Given the description of an element on the screen output the (x, y) to click on. 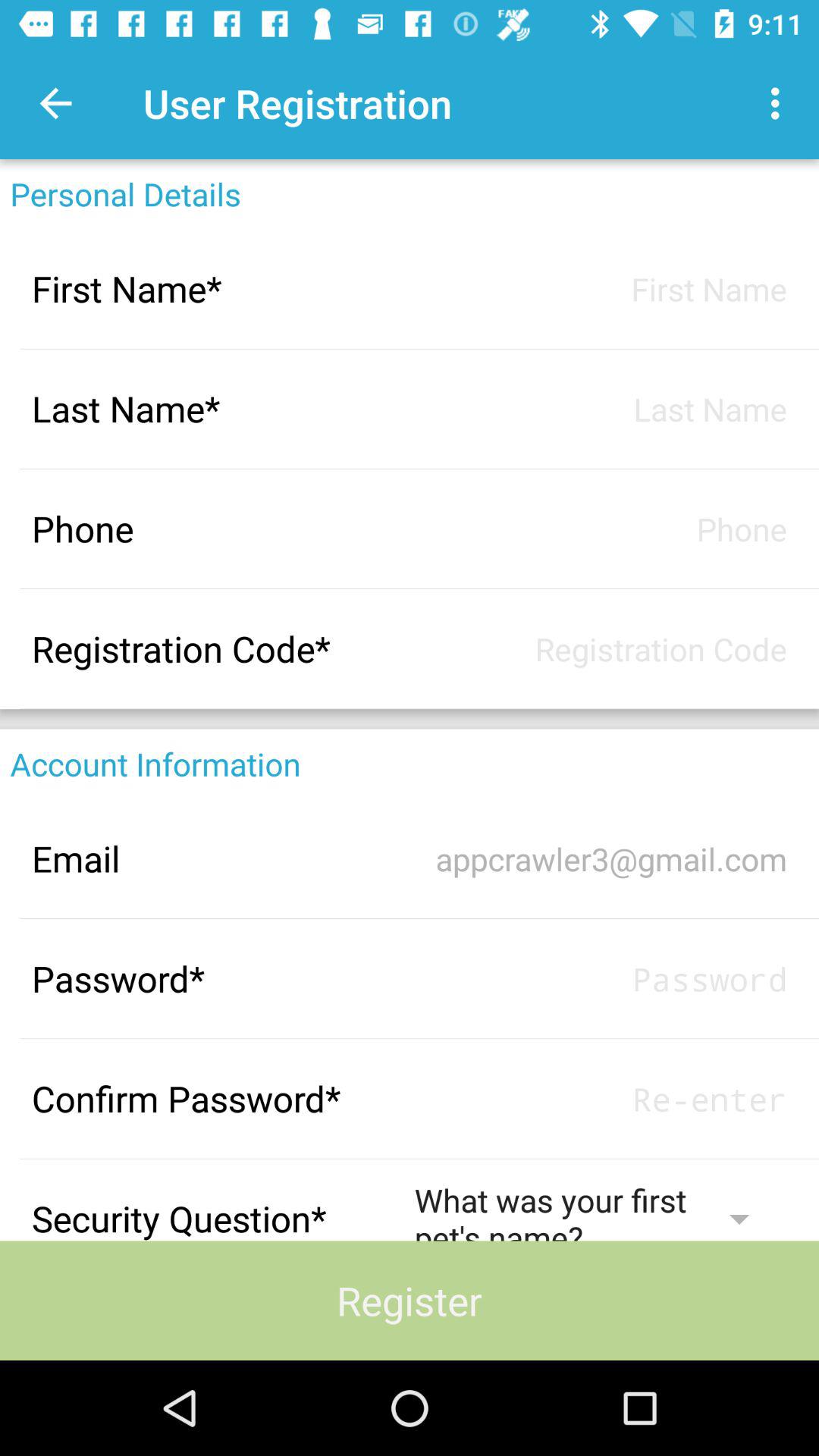
enter information (600, 528)
